Given the description of an element on the screen output the (x, y) to click on. 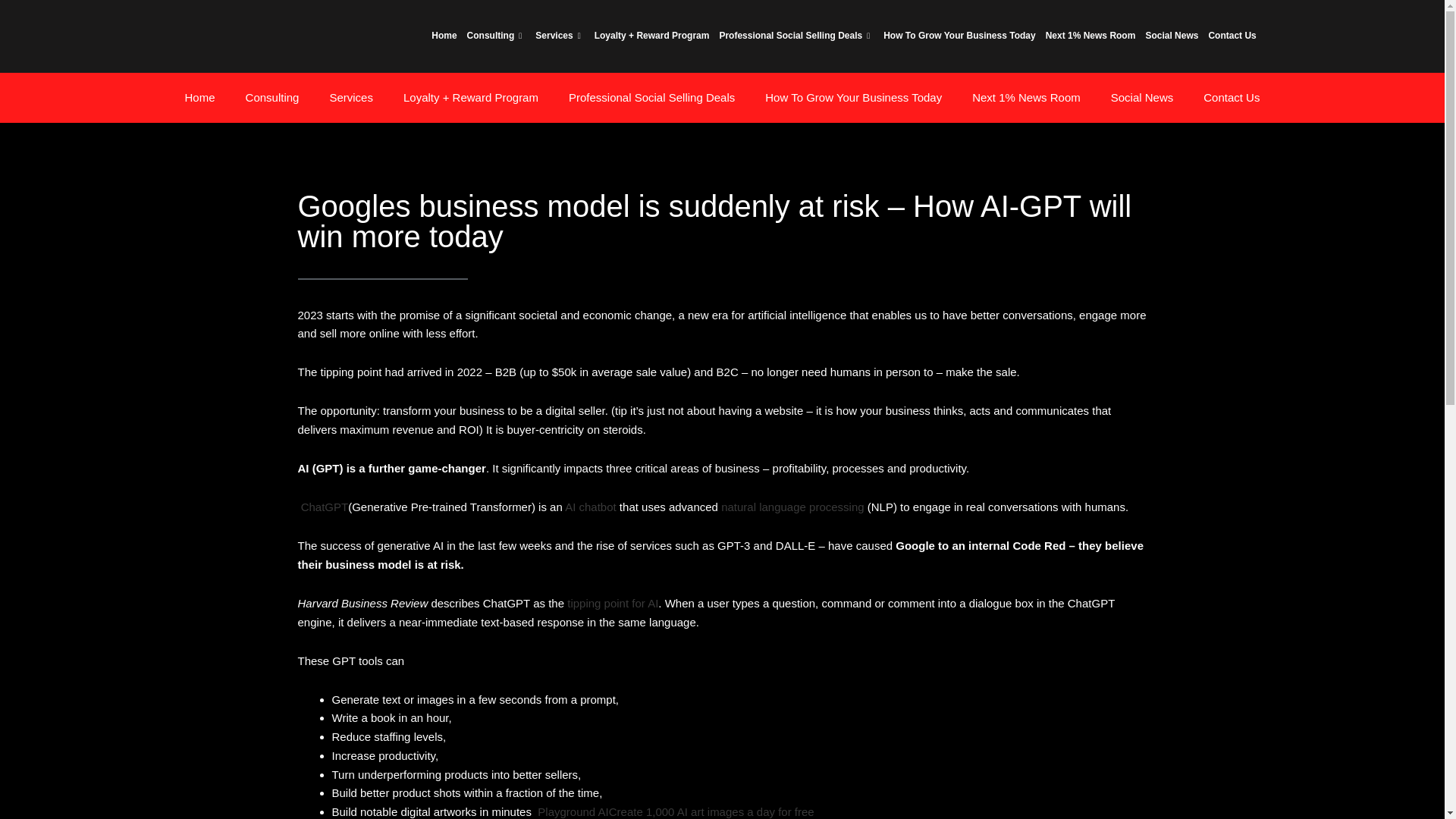
Social News (1171, 36)
Consulting (496, 36)
Contact Us (1231, 36)
Services (558, 36)
Home (200, 97)
Consulting (272, 97)
How To Grow Your Business Today (958, 36)
Professional Social Selling Deals (795, 36)
